Given the description of an element on the screen output the (x, y) to click on. 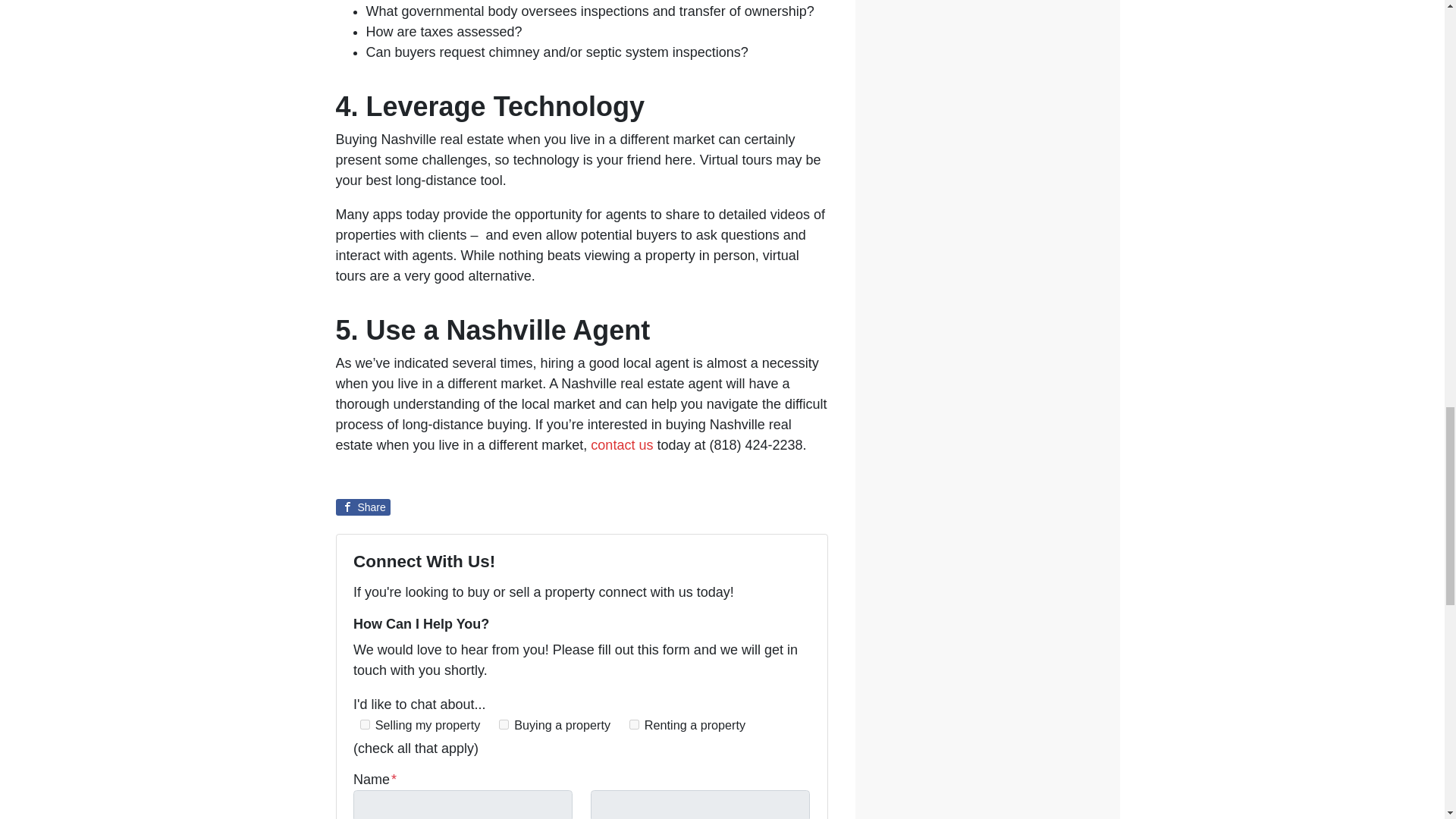
contact us (621, 444)
Renting a property (633, 724)
Share (362, 506)
Selling my property (364, 724)
Share on Facebook (362, 506)
Buying a property (503, 724)
